Given the description of an element on the screen output the (x, y) to click on. 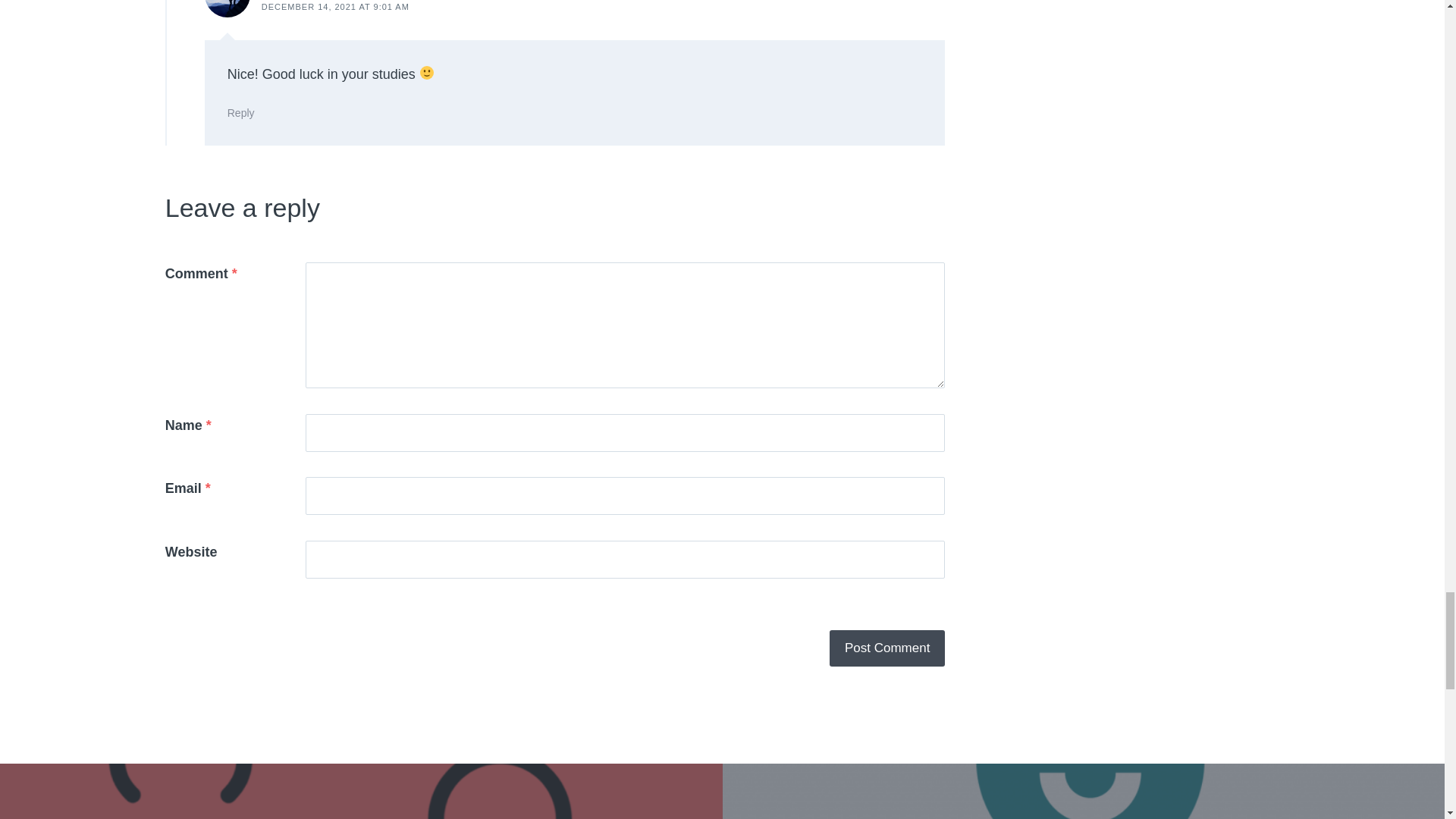
Post Comment (886, 647)
